Given the description of an element on the screen output the (x, y) to click on. 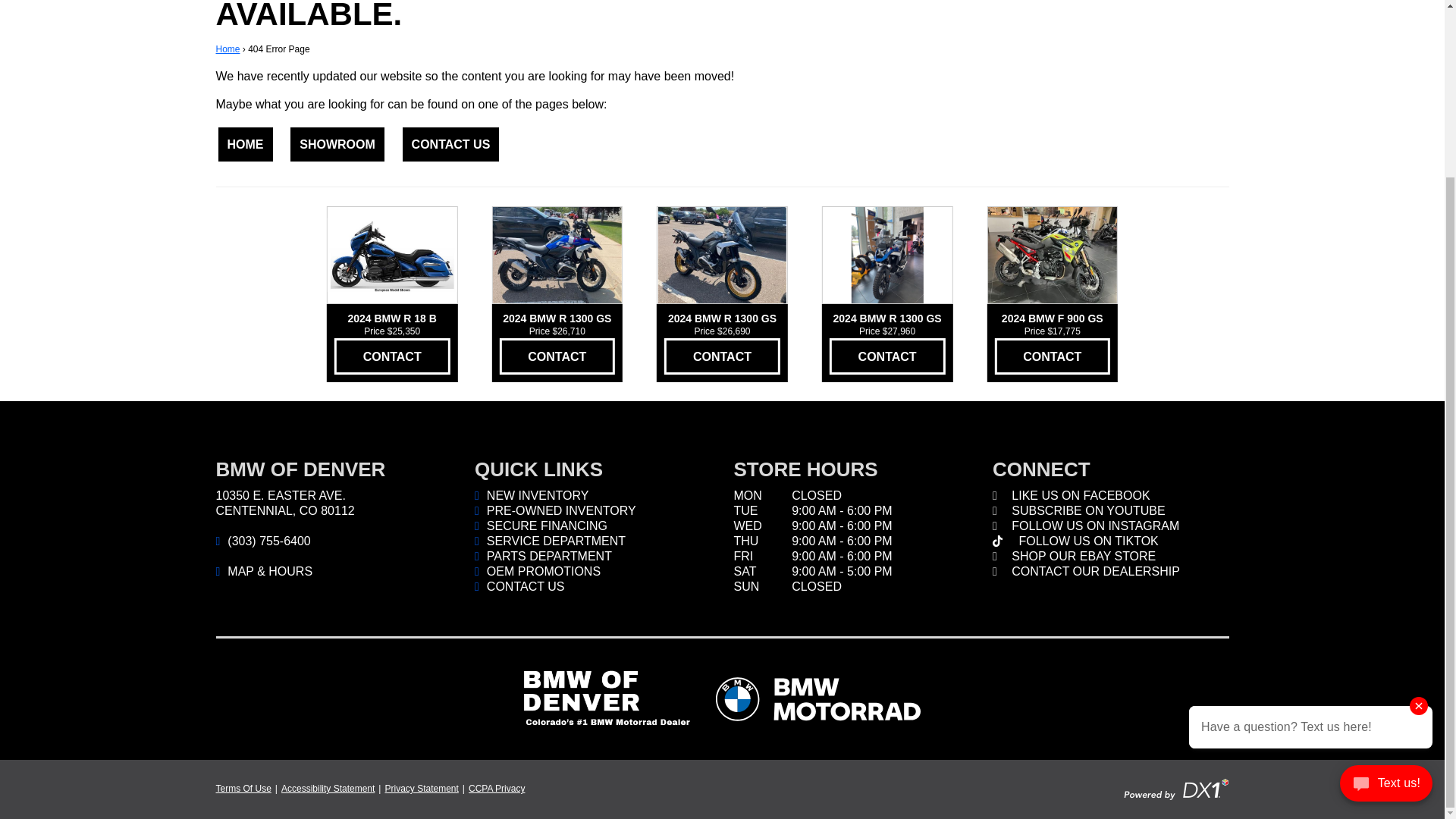
Powered by DX1 (1176, 788)
BMW Motorcycles of Denver (607, 699)
